Given the description of an element on the screen output the (x, y) to click on. 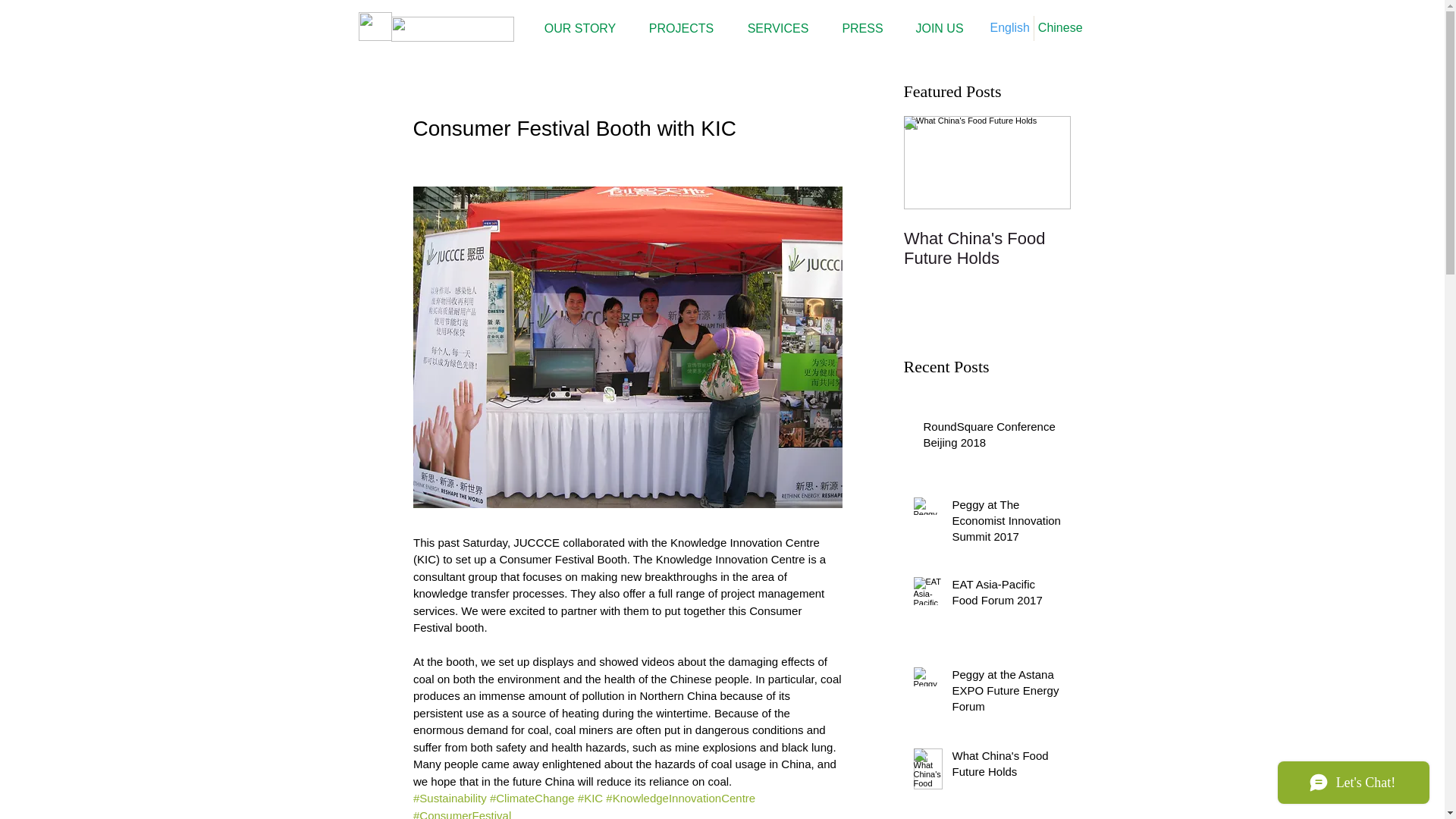
Chinese (1059, 27)
Peggy at The Economist Innovation Summit 2017 (1006, 523)
English (1008, 27)
Peggy at the Astana EXPO Future Energy Forum (1006, 693)
SERVICES (777, 28)
What China's Food Future Holds (987, 248)
PRESS (862, 28)
EAT Asia-Pacific Food Forum 2017 (1006, 595)
RoundSquare Conference Beijing 2018 (992, 437)
OUR STORY (579, 28)
